Given the description of an element on the screen output the (x, y) to click on. 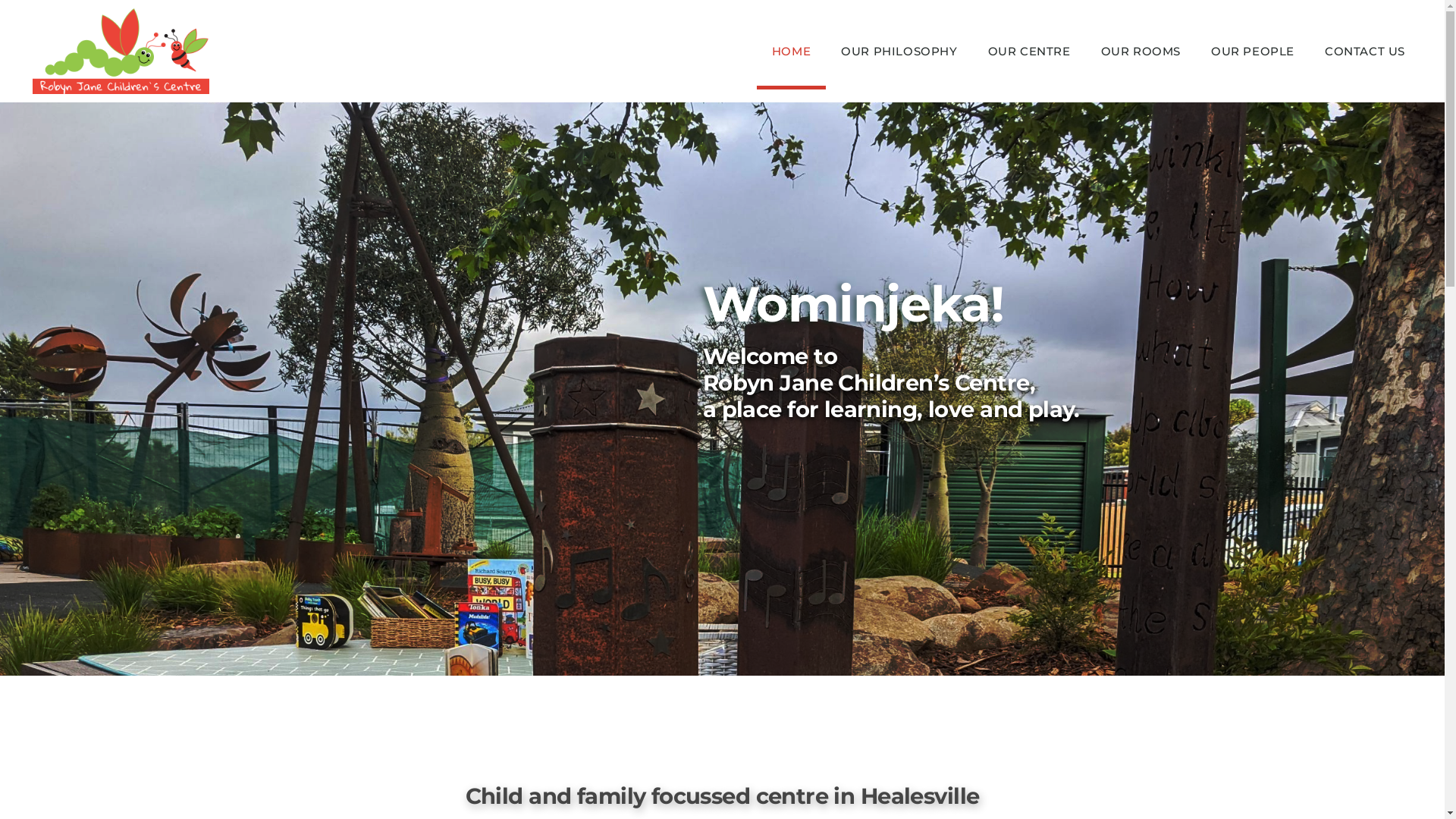
OUR PHILOSOPHY Element type: text (898, 51)
OUR ROOMS Element type: text (1140, 51)
OUR CENTRE Element type: text (1028, 51)
HOME Element type: text (790, 51)
CONTACT US Element type: text (1364, 51)
OUR PEOPLE Element type: text (1252, 51)
